Given the description of an element on the screen output the (x, y) to click on. 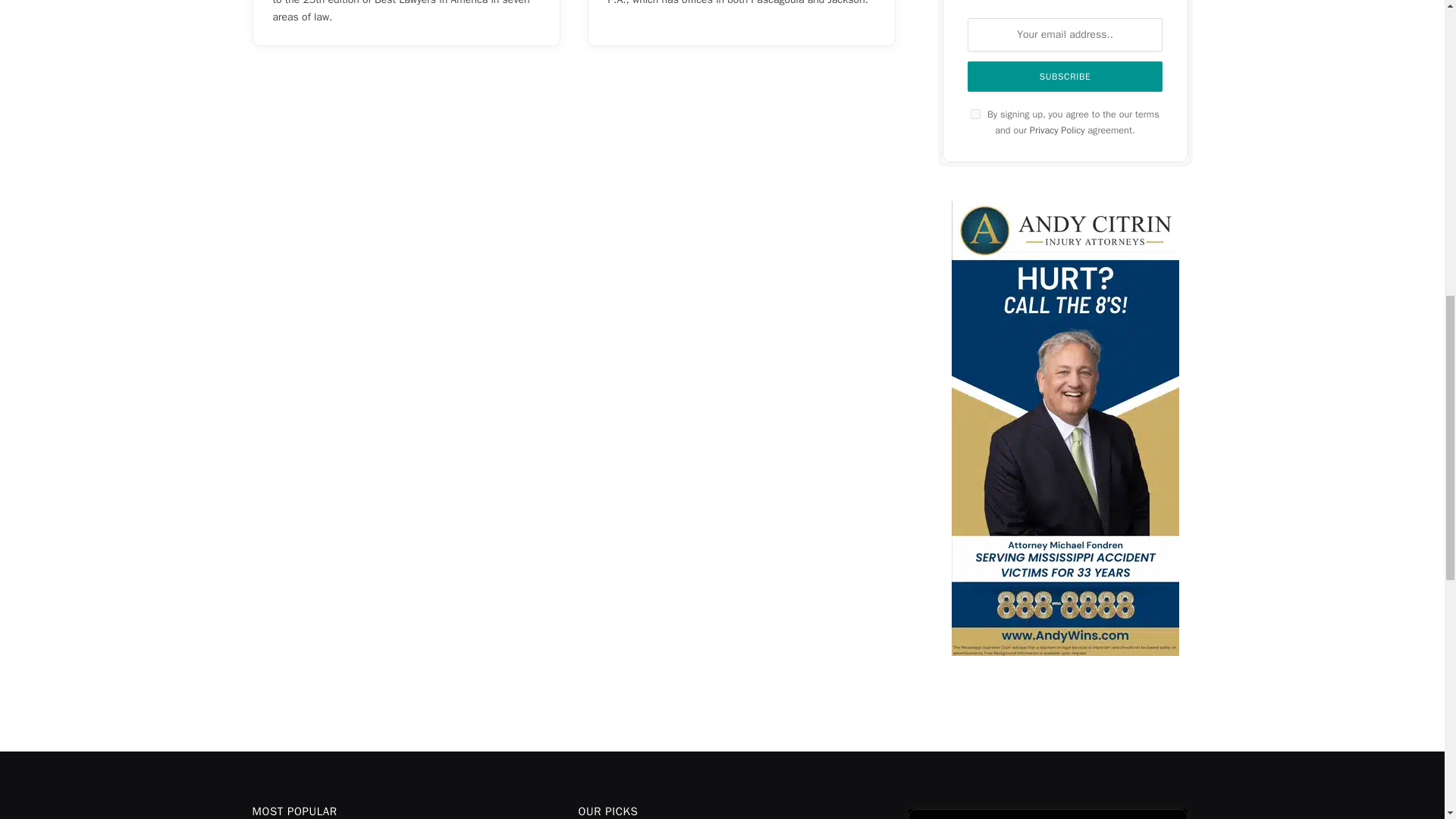
on (975, 113)
Subscribe (1064, 76)
